Given the description of an element on the screen output the (x, y) to click on. 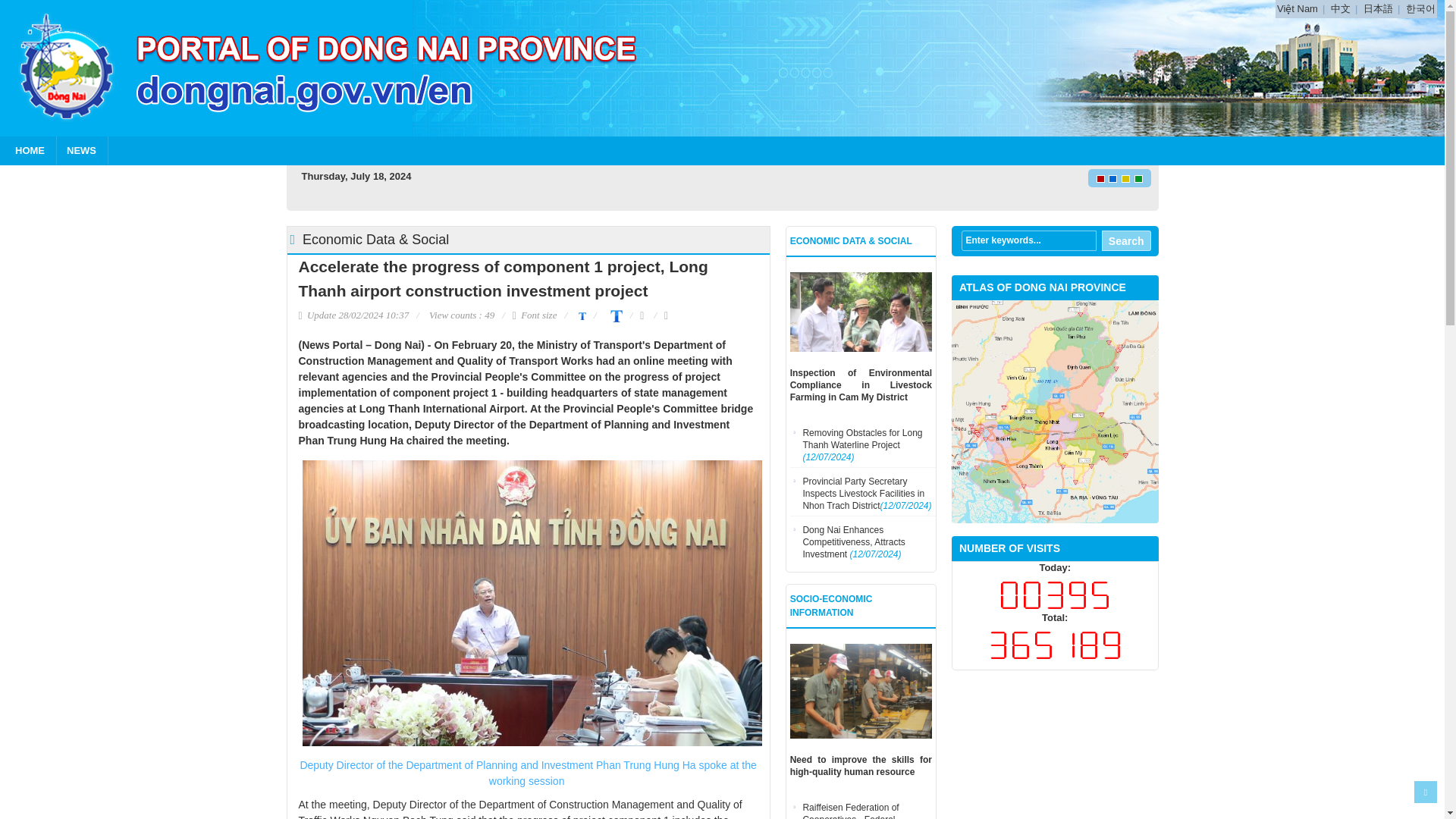
Increase font size (613, 315)
NEWS (81, 150)
HOME (30, 150)
Decrease font size (580, 315)
Search (1126, 240)
